Given the description of an element on the screen output the (x, y) to click on. 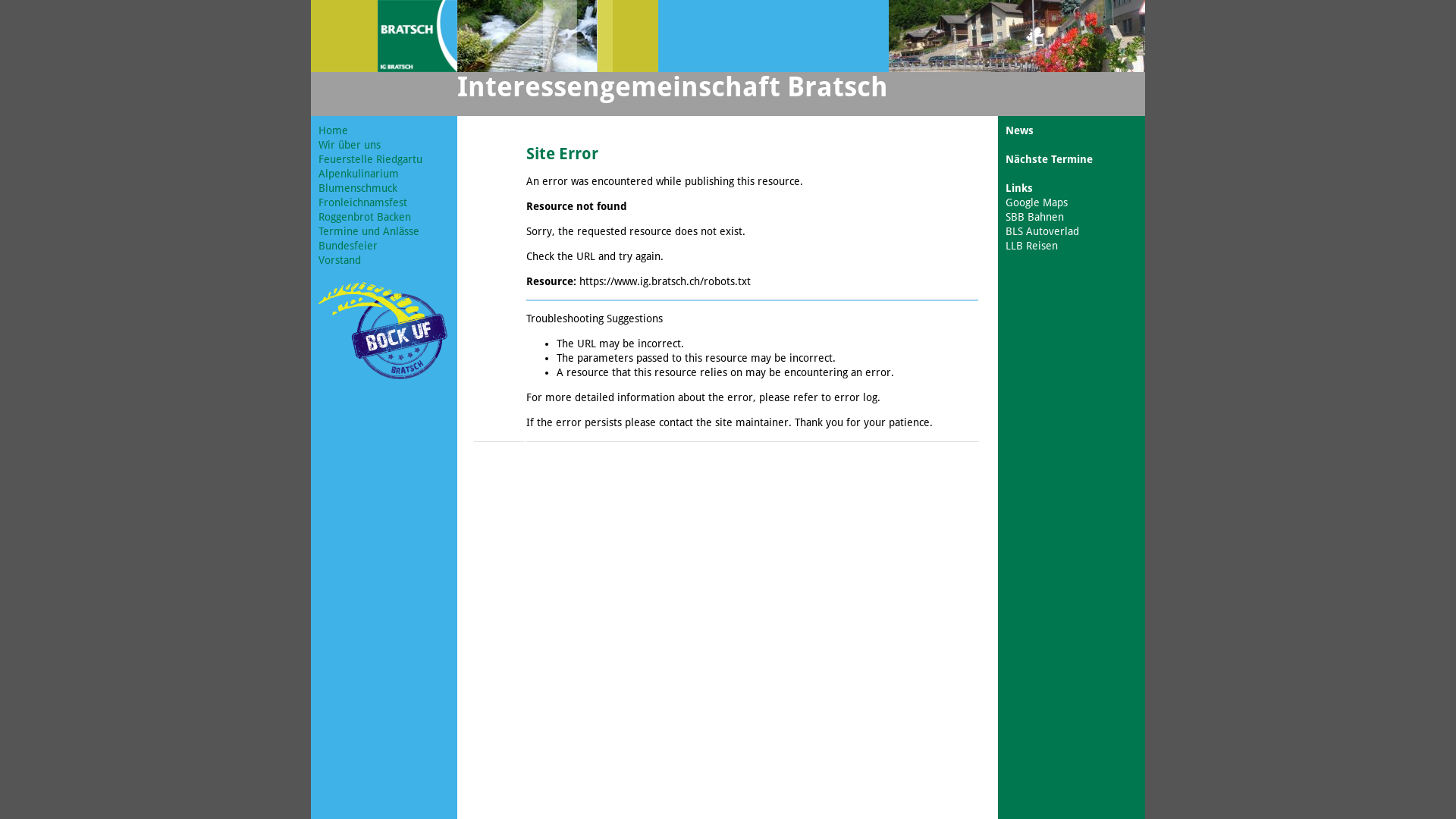
News Element type: text (1019, 130)
Alpenkulinarium Element type: text (358, 173)
LLB Reisen Element type: text (1031, 245)
SBB Bahnen Element type: text (1034, 216)
Blumenschmuck Element type: text (357, 188)
Vorstand Element type: text (339, 260)
Bundesfeier Element type: text (347, 245)
Home Element type: text (333, 130)
Roggenbrot Backen Element type: text (364, 216)
Google Maps Element type: text (1036, 202)
Feuerstelle Riedgartu Element type: text (370, 159)
Fronleichnamsfest Element type: text (362, 202)
BLS Autoverlad Element type: text (1042, 231)
